Given the description of an element on the screen output the (x, y) to click on. 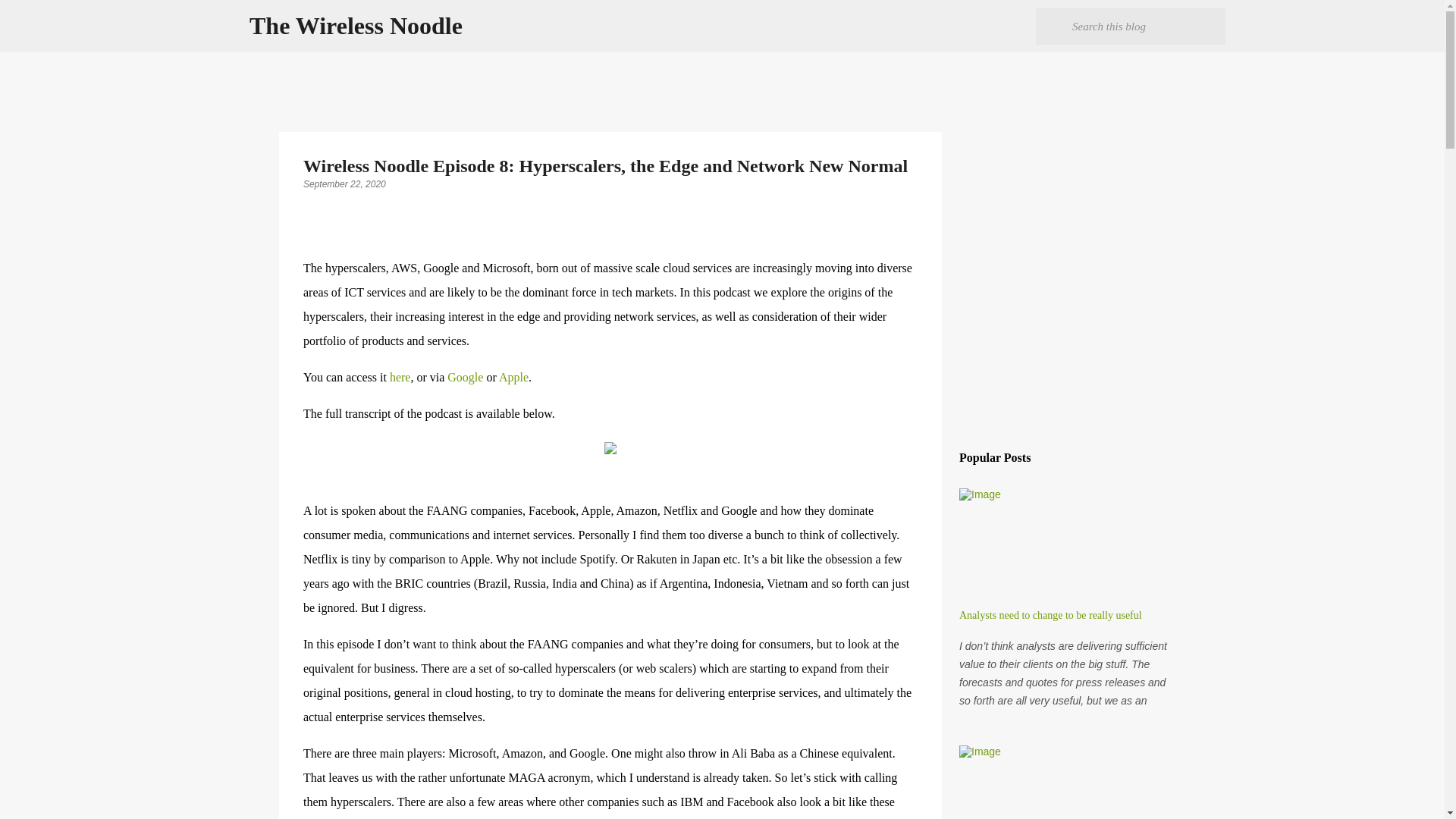
Analysts need to change to be really useful (1050, 614)
here (400, 377)
Apple (513, 377)
Google (464, 377)
permanent link (343, 184)
The Wireless Noodle (355, 25)
September 22, 2020 (343, 184)
